Given the description of an element on the screen output the (x, y) to click on. 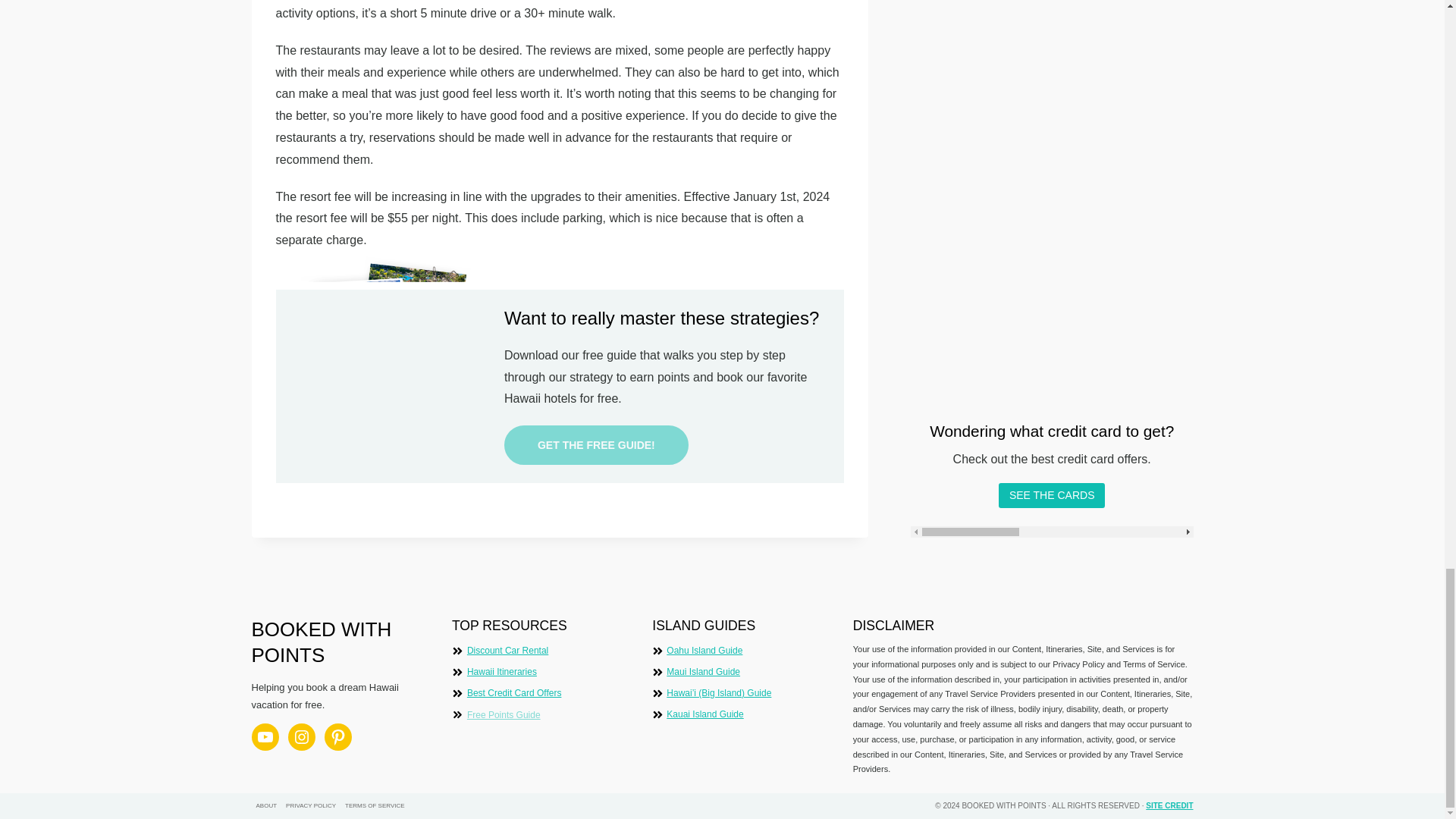
ABOUT (266, 806)
GET THE FREE GUIDE! (595, 445)
Kauai Island Guide (704, 714)
Best Credit Card Offers (514, 692)
Instagram (301, 737)
Free Points Guide (503, 715)
Oahu Island Guide (704, 650)
Pinterest (338, 737)
YouTube (265, 737)
Discount Car Rental (507, 650)
